Given the description of an element on the screen output the (x, y) to click on. 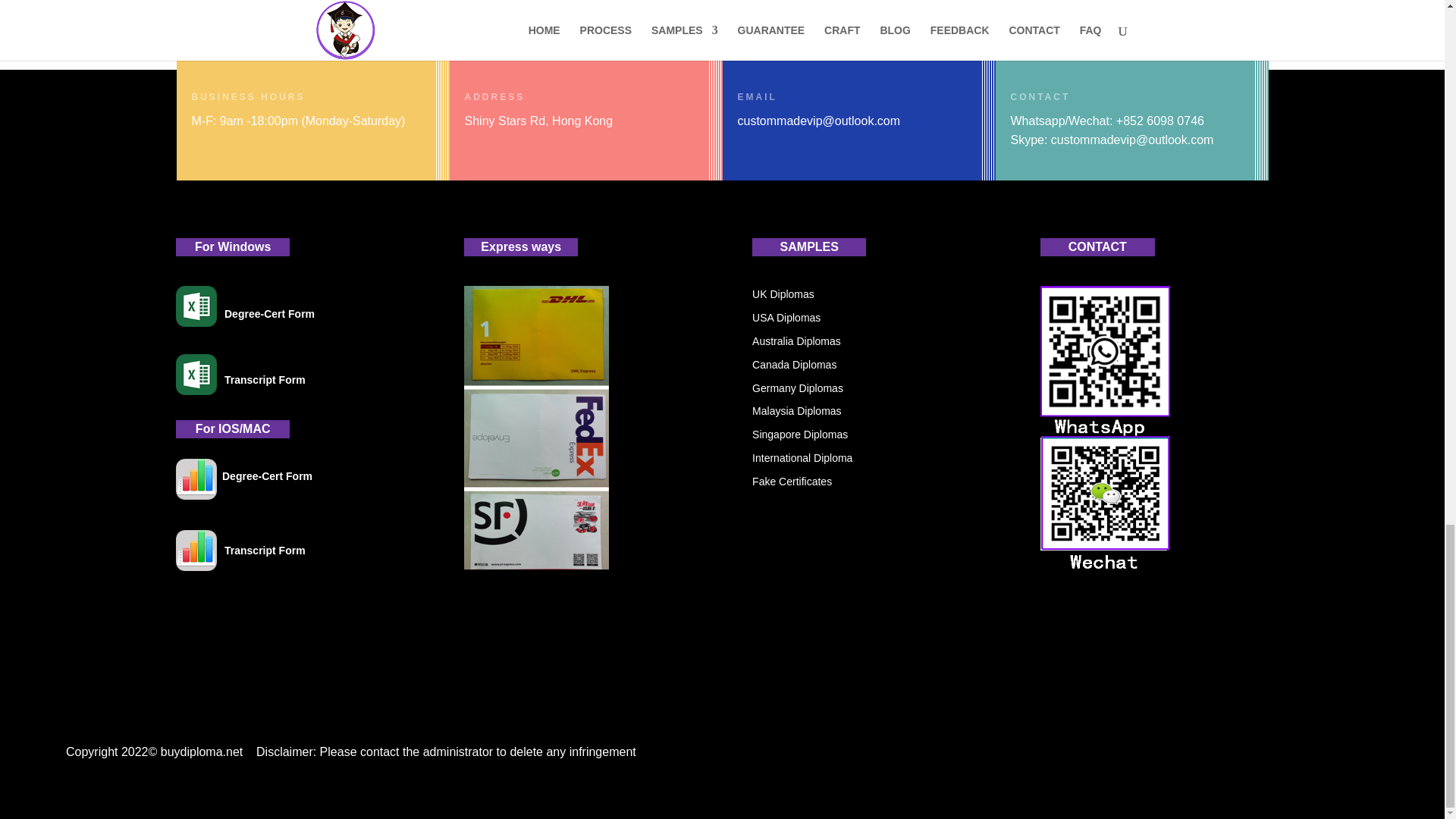
111 (196, 549)
110 (196, 373)
110 (196, 305)
111 (196, 478)
